Given the description of an element on the screen output the (x, y) to click on. 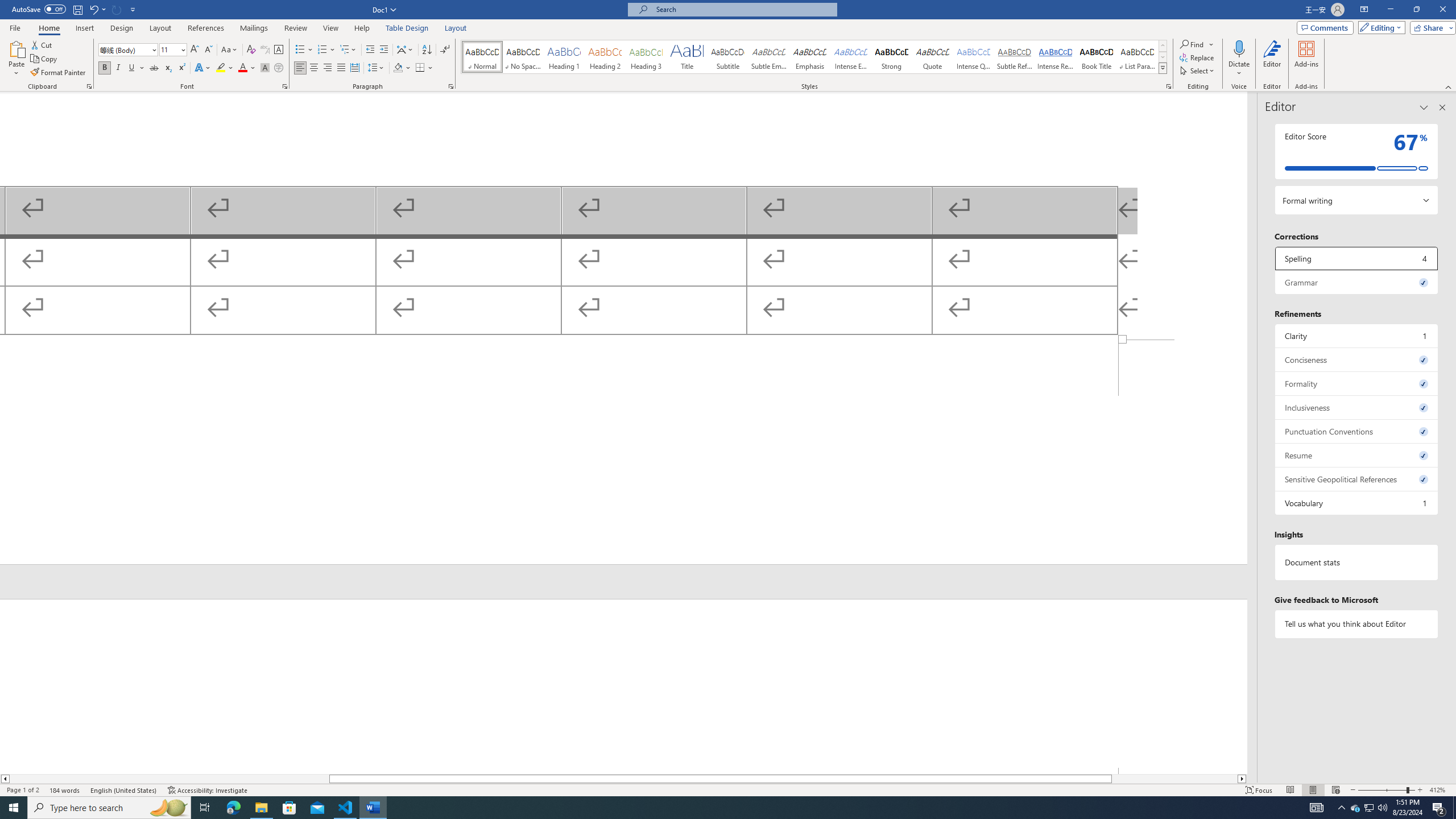
Format Painter (58, 72)
Text Highlight Color (224, 67)
Font... (285, 85)
Header -Section 1- (623, 685)
Copy (45, 58)
Subscript (167, 67)
Font Color Red (241, 67)
Sort... (426, 49)
